Given the description of an element on the screen output the (x, y) to click on. 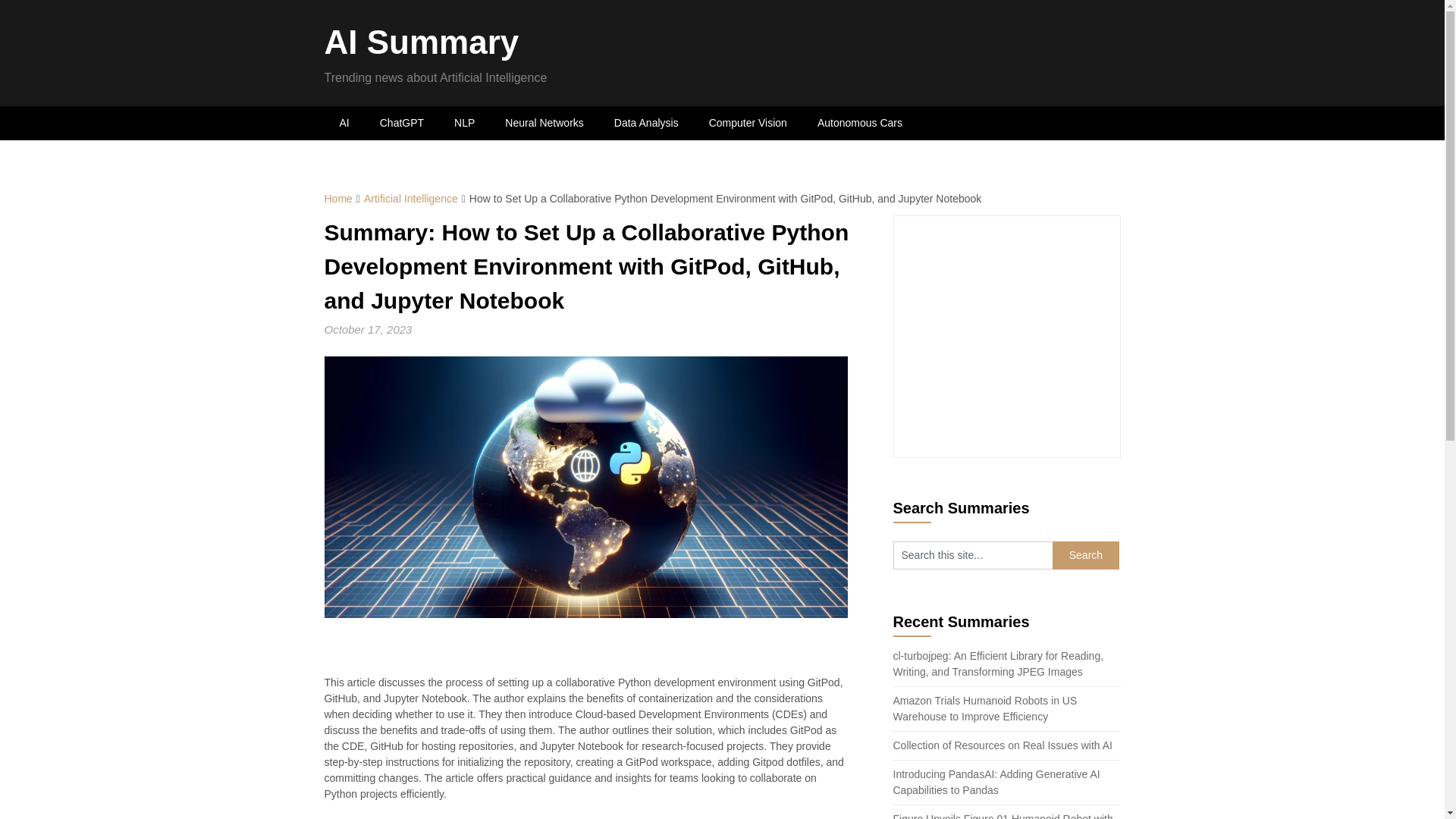
Computer Vision (748, 123)
Data Analysis (646, 123)
Home (338, 198)
Collection of Resources on Real Issues with AI (1002, 745)
ChatGPT (402, 123)
AI (344, 123)
